Given the description of an element on the screen output the (x, y) to click on. 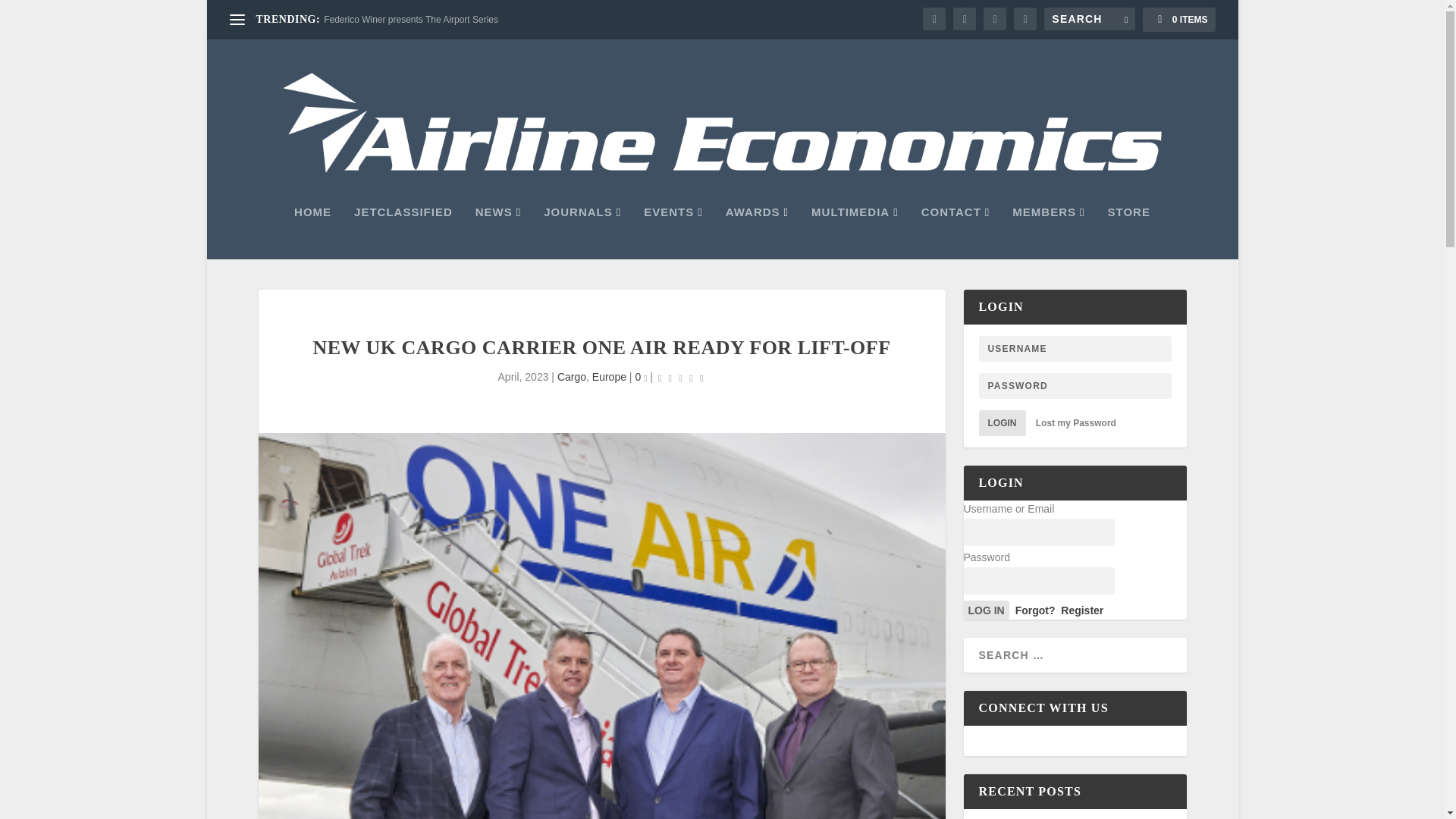
log in (985, 609)
JETCLASSIFIED (402, 232)
JOURNALS (582, 232)
Rating: 0.00 (681, 377)
Federico Winer presents The Airport Series (410, 19)
